Given the description of an element on the screen output the (x, y) to click on. 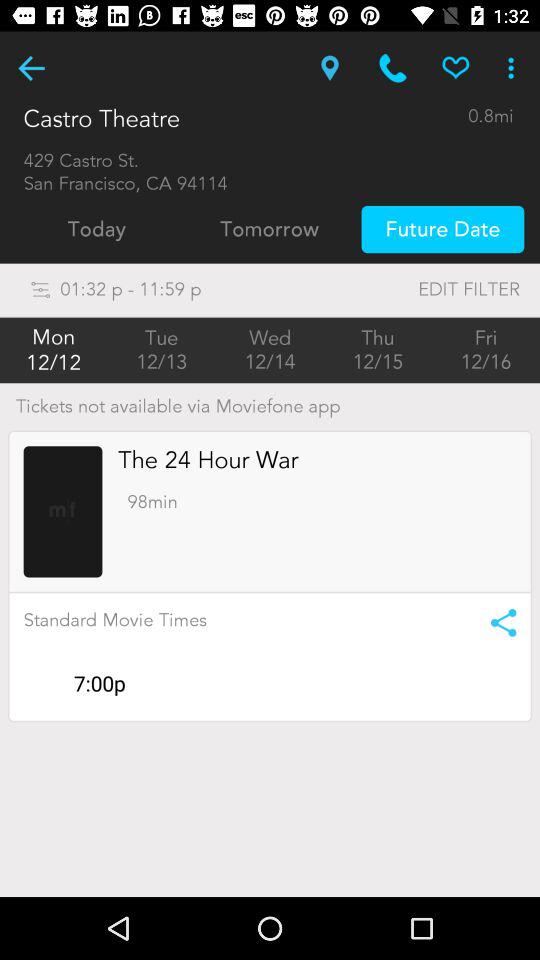
turn on the icon next to the 01 32 p item (428, 289)
